Given the description of an element on the screen output the (x, y) to click on. 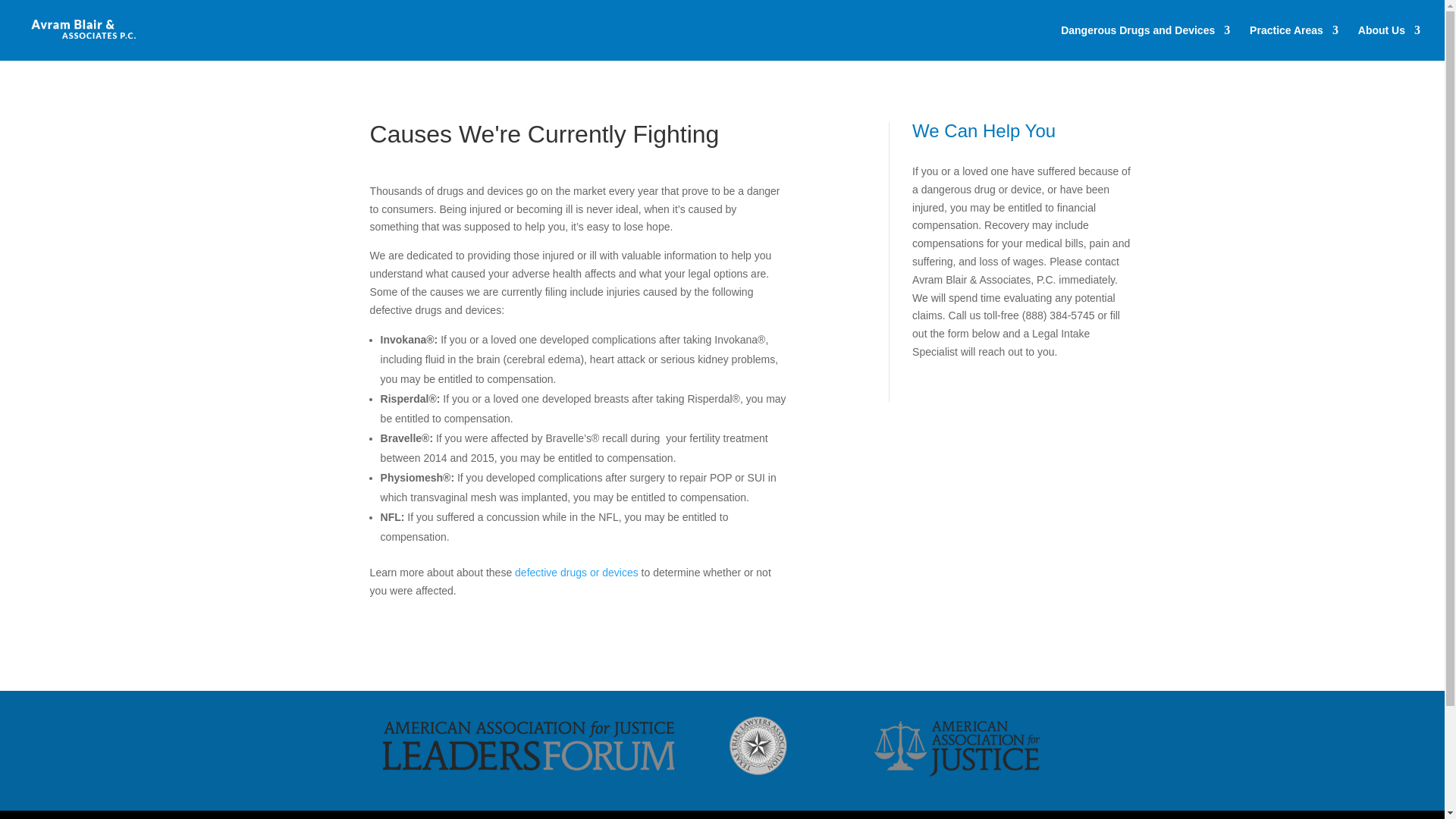
About Us (1389, 42)
Dangerous Drugs and Devices (1145, 42)
Practice Areas (1293, 42)
